Given the description of an element on the screen output the (x, y) to click on. 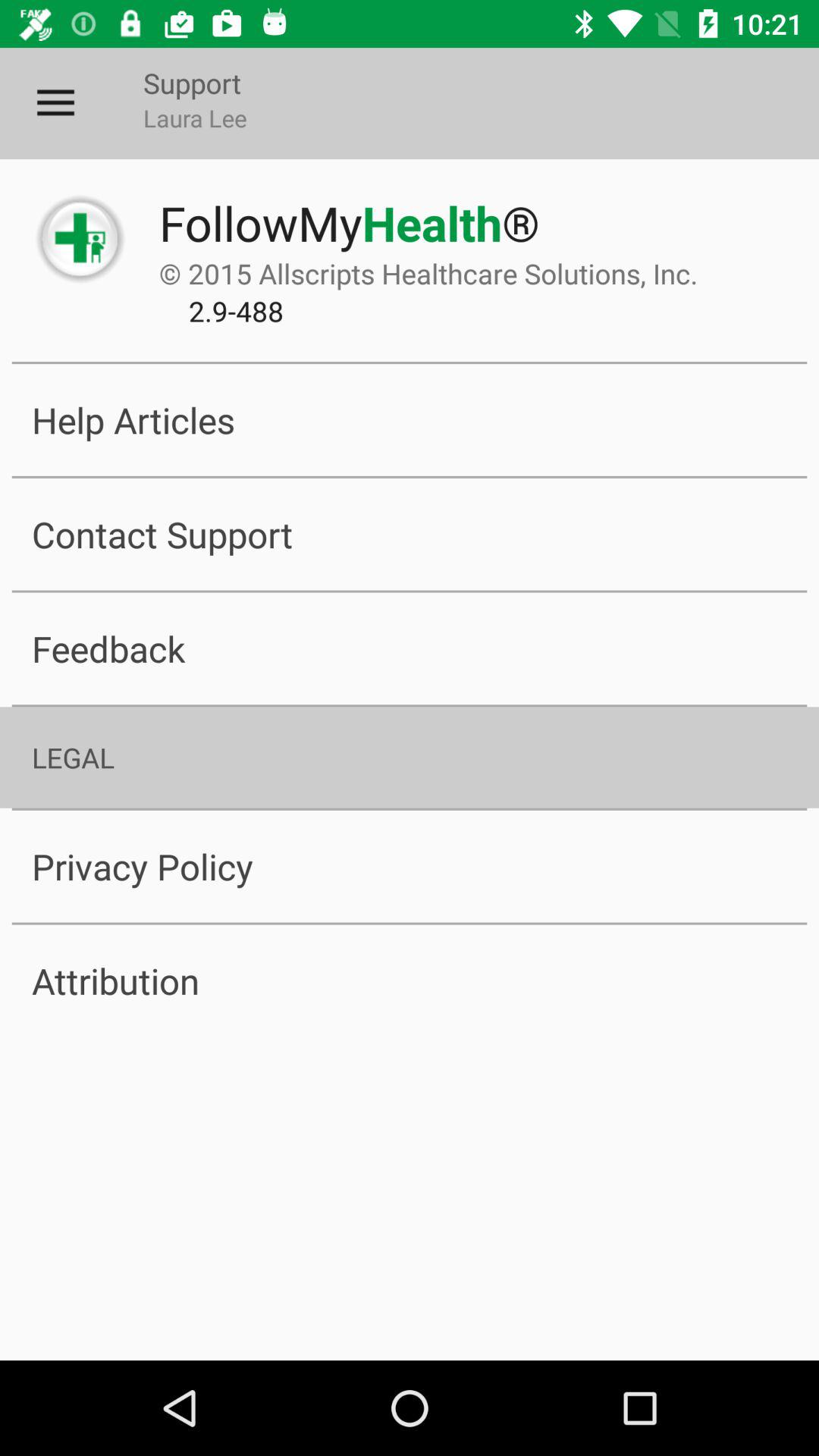
tap feedback (409, 648)
